Given the description of an element on the screen output the (x, y) to click on. 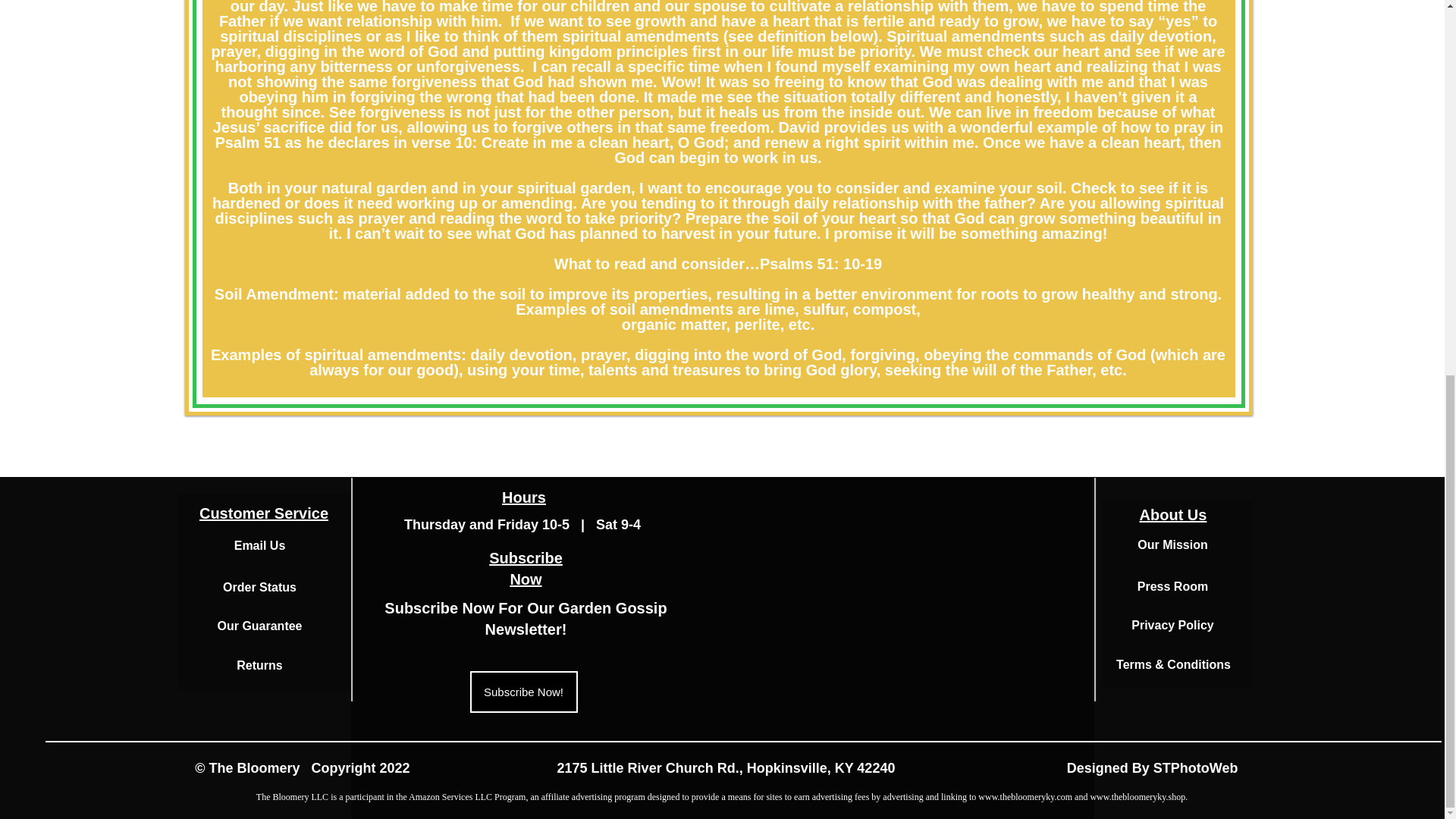
Privacy Policy (1172, 625)
Subscribe Now! (524, 691)
Our Guarantee (258, 625)
www.thebloomeryky.shop (1137, 796)
Returns (258, 665)
Order Status (259, 586)
Press Room (1172, 585)
Email Us (259, 545)
www.thebloomeryky.com (1024, 796)
Our Mission (525, 618)
